Given the description of an element on the screen output the (x, y) to click on. 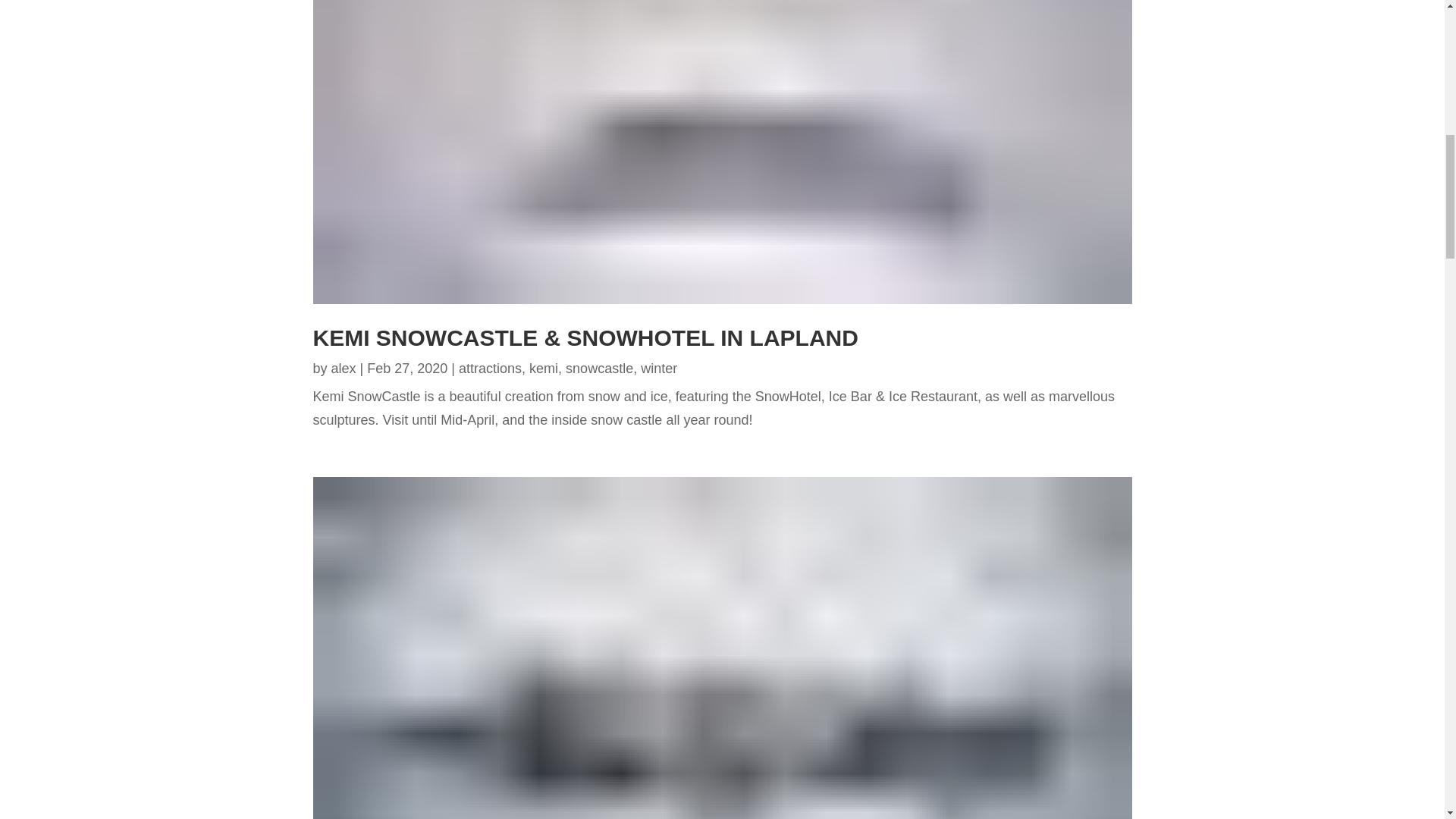
attractions (489, 368)
Posts by alex (343, 368)
alex (343, 368)
snowcastle (599, 368)
kemi (543, 368)
winter (658, 368)
